Given the description of an element on the screen output the (x, y) to click on. 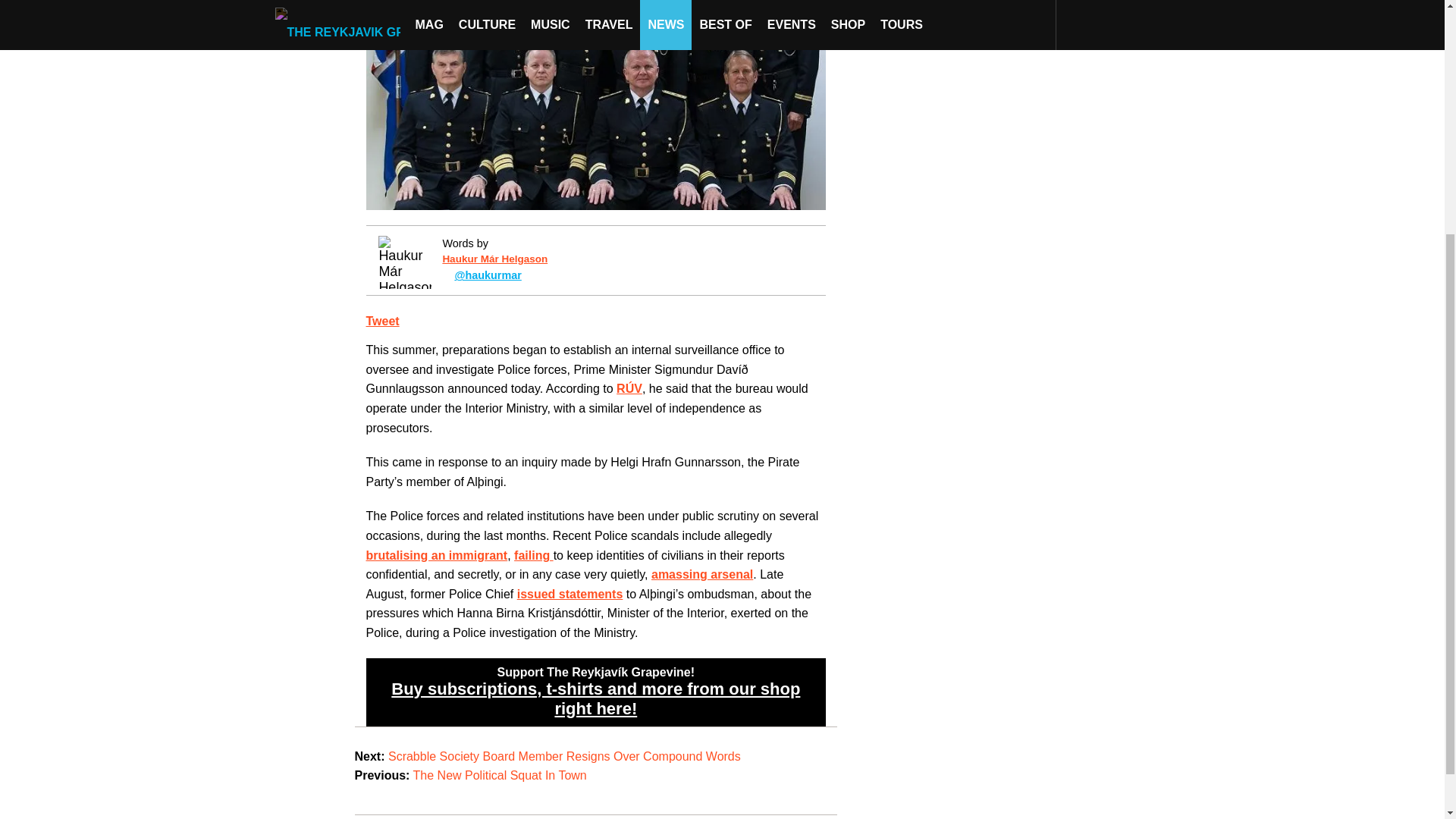
issued statements (569, 594)
Scrabble Society Board Member Resigns Over Compound Words (564, 756)
failing (533, 554)
Tweet (381, 320)
amassing arsenal (701, 574)
The New Political Squat In Town (499, 775)
brutalising an immigrant (435, 554)
